Given the description of an element on the screen output the (x, y) to click on. 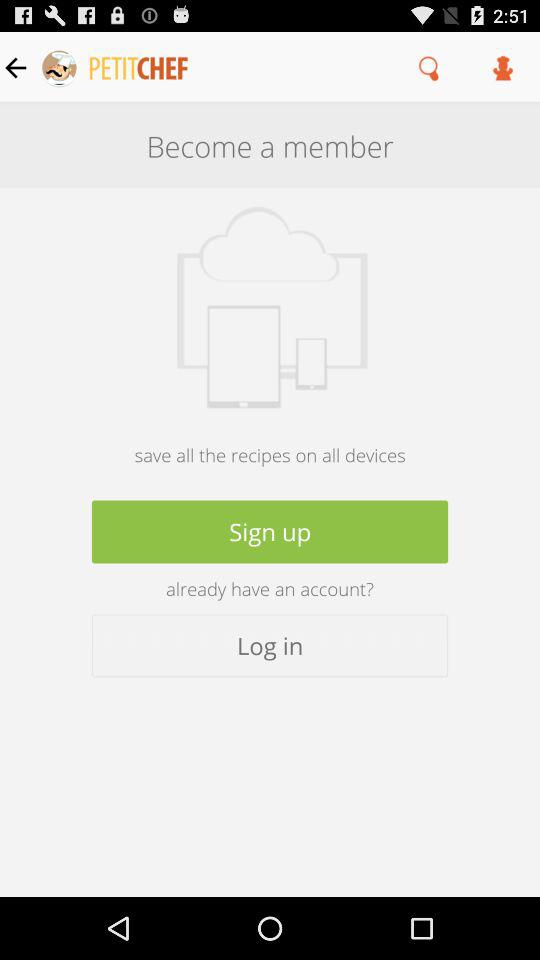
choose item above become a member item (503, 67)
